Given the description of an element on the screen output the (x, y) to click on. 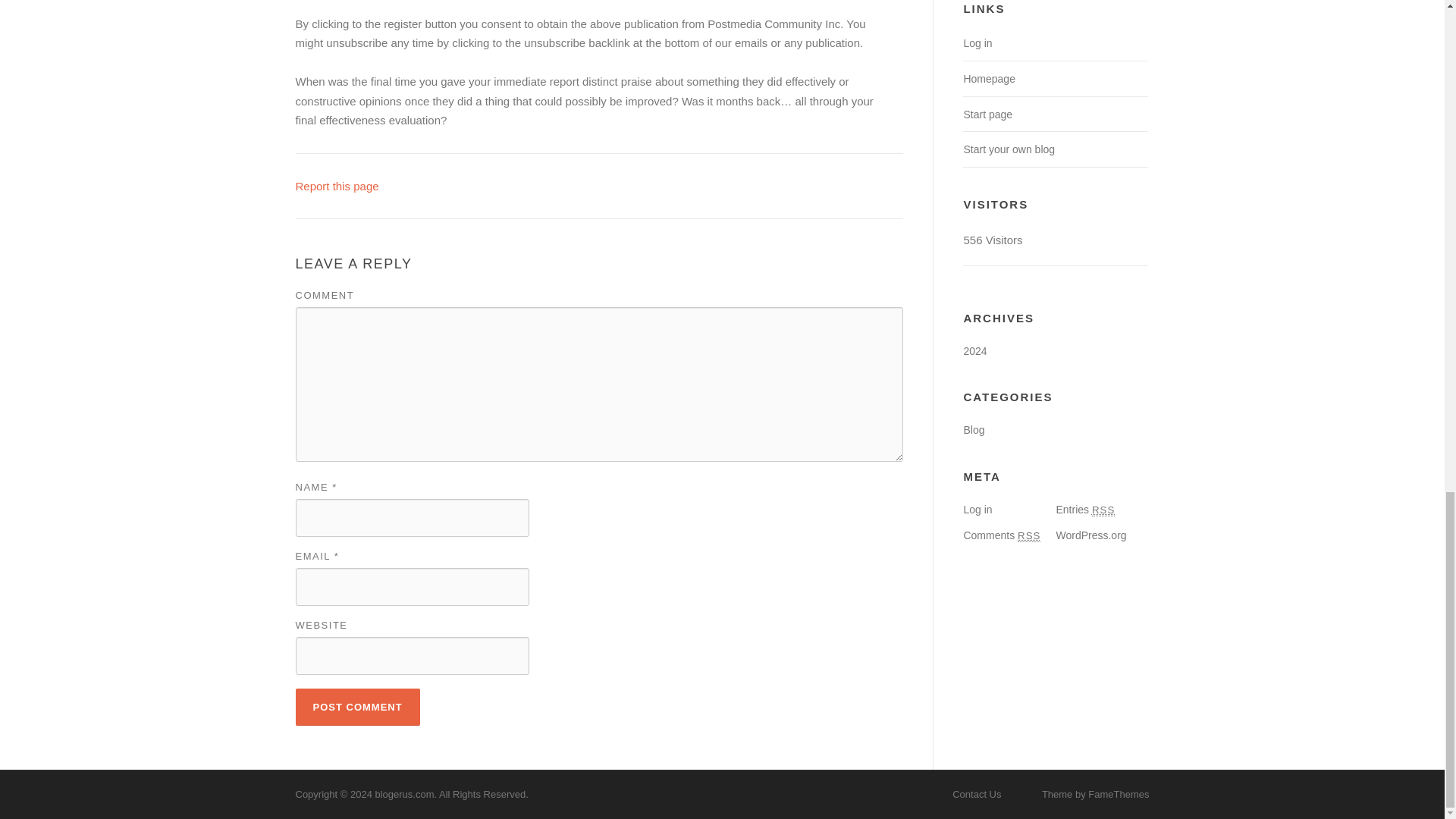
Blog (973, 429)
Log in (976, 509)
Report this page (336, 185)
2024 (974, 350)
Homepage (988, 78)
WordPress.org (1090, 535)
Log in (976, 42)
Start page (986, 114)
Really Simple Syndication (1103, 510)
Start your own blog (1008, 149)
Post Comment (357, 706)
Really Simple Syndication (1029, 535)
Post Comment (357, 706)
Entries RSS (1085, 509)
